Given the description of an element on the screen output the (x, y) to click on. 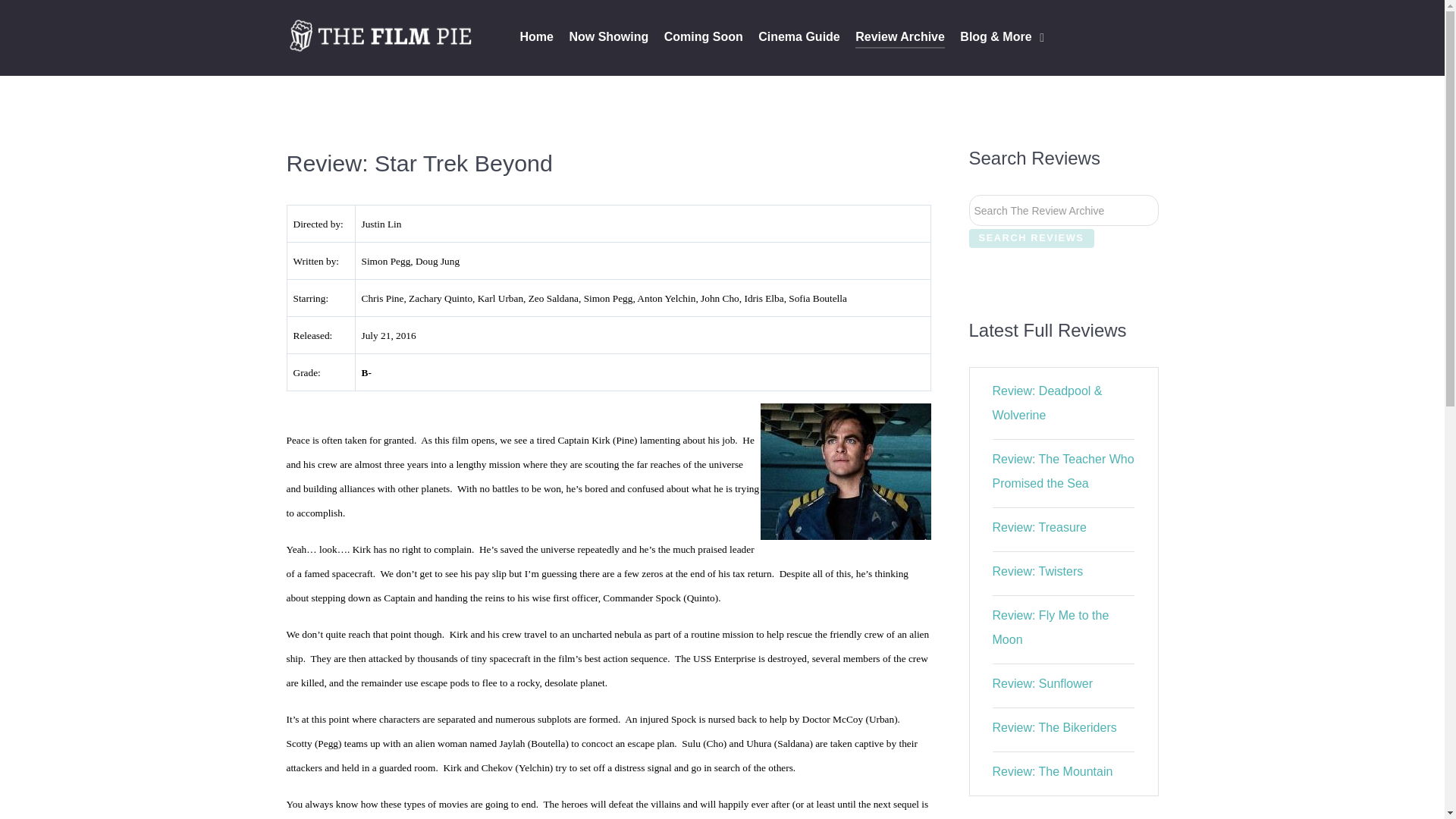
Review: Sunflower (1042, 683)
Now Showing (608, 38)
Review: The Teacher Who Promised the Sea (1063, 470)
Review Archive (900, 38)
Review: Twisters (1037, 571)
Cinema Guide (799, 38)
Review: Treasure (1039, 526)
Review: The Bikeriders (1054, 727)
SEARCH REVIEWS (1031, 238)
Home (536, 38)
Review: Fly Me to the Moon (1050, 627)
Coming Soon (702, 38)
Star Trek Beyond (845, 471)
Review: The Mountain (1052, 771)
